Given the description of an element on the screen output the (x, y) to click on. 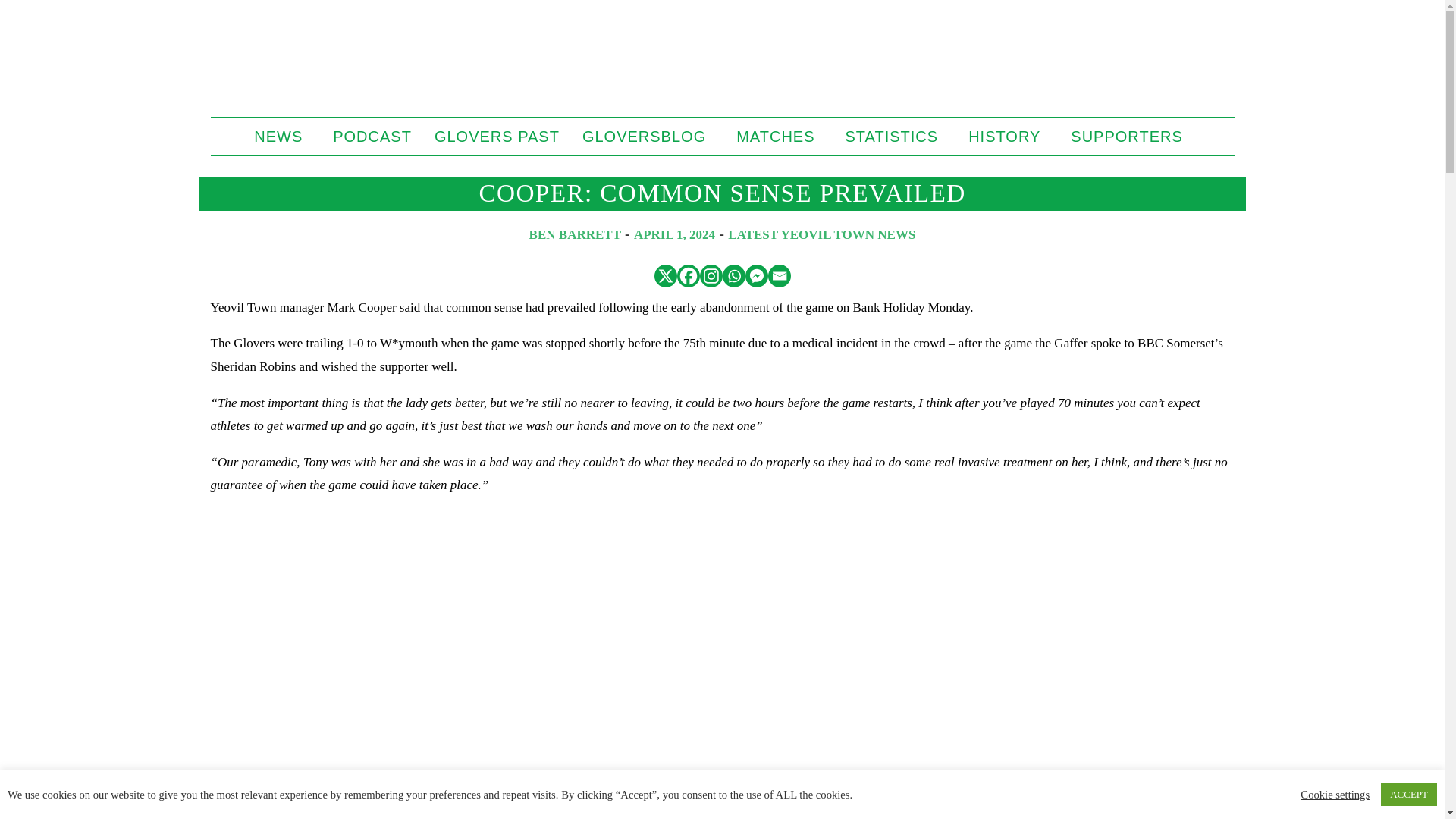
PODCAST (372, 136)
LATEST YEOVIL TOWN NEWS (821, 234)
HISTORY (1007, 136)
X (665, 275)
MATCHES (778, 136)
GLOVERS PAST (496, 136)
Monday, April 1, 2024, 11:05 pm (673, 234)
Facebook (687, 275)
BEN BARRETT (575, 234)
STATISTICS (896, 136)
